Given the description of an element on the screen output the (x, y) to click on. 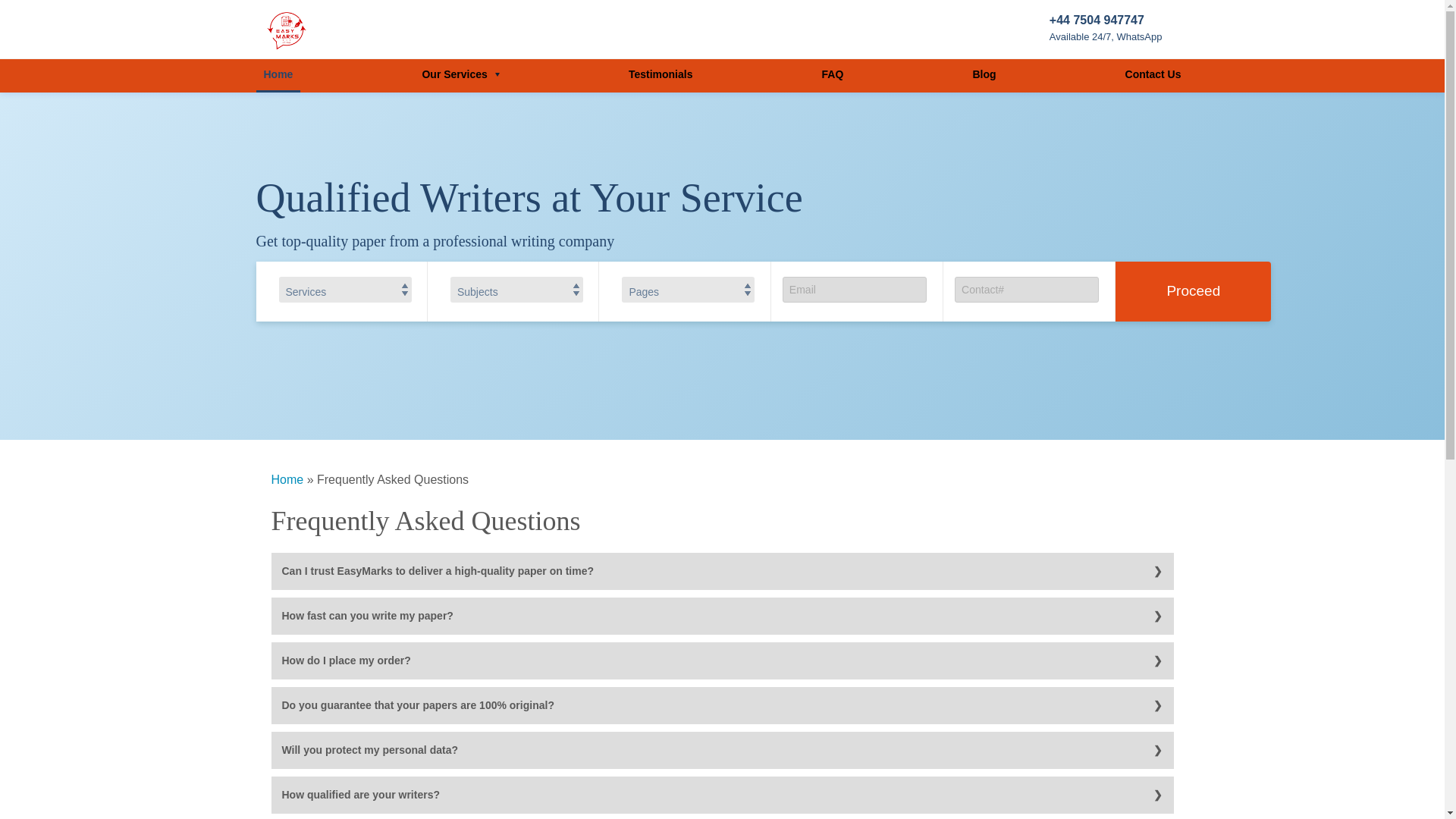
Proceed (1193, 291)
FAQ (832, 75)
Contact Us (1153, 75)
Type of service (345, 289)
Login (1090, 182)
Pages (687, 289)
Blog (983, 75)
Subject (516, 289)
Home (287, 479)
Testimonials (660, 75)
